Given the description of an element on the screen output the (x, y) to click on. 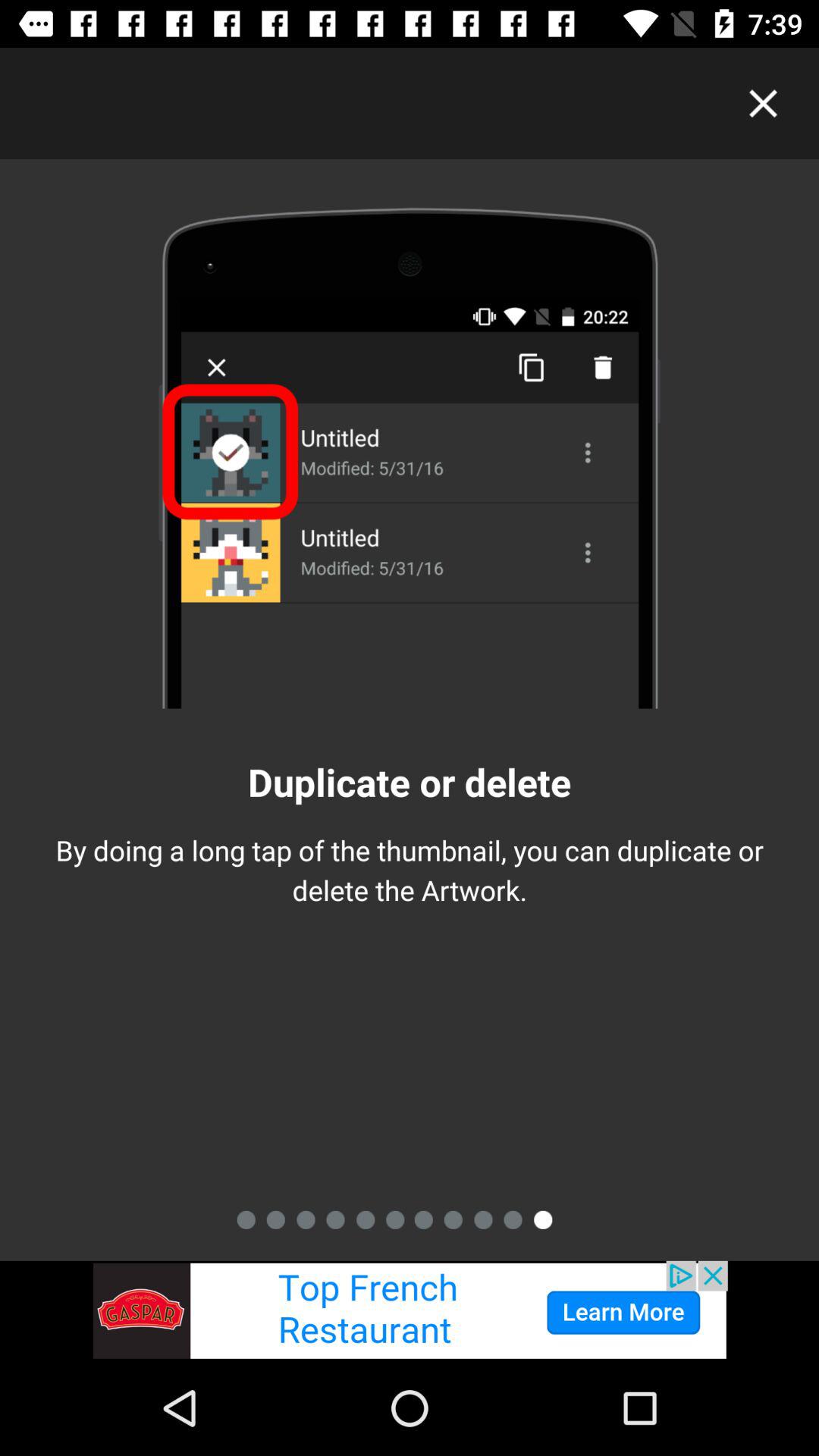
advertisement (409, 1310)
